Given the description of an element on the screen output the (x, y) to click on. 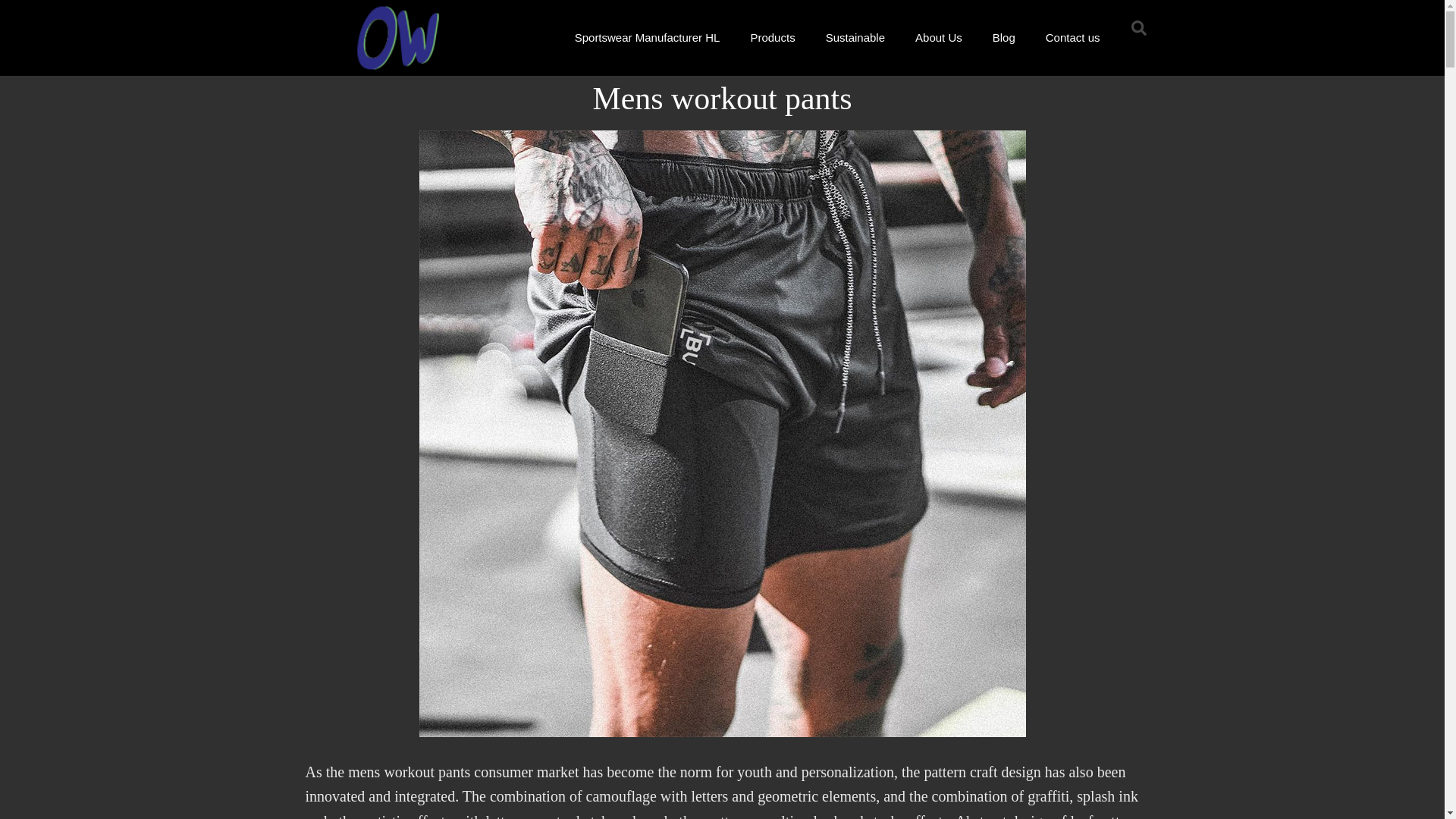
Sportswear Manufacturer HL (647, 38)
Sustainable (854, 38)
Contact us (1072, 38)
Products (772, 38)
About Us (937, 38)
